Given the description of an element on the screen output the (x, y) to click on. 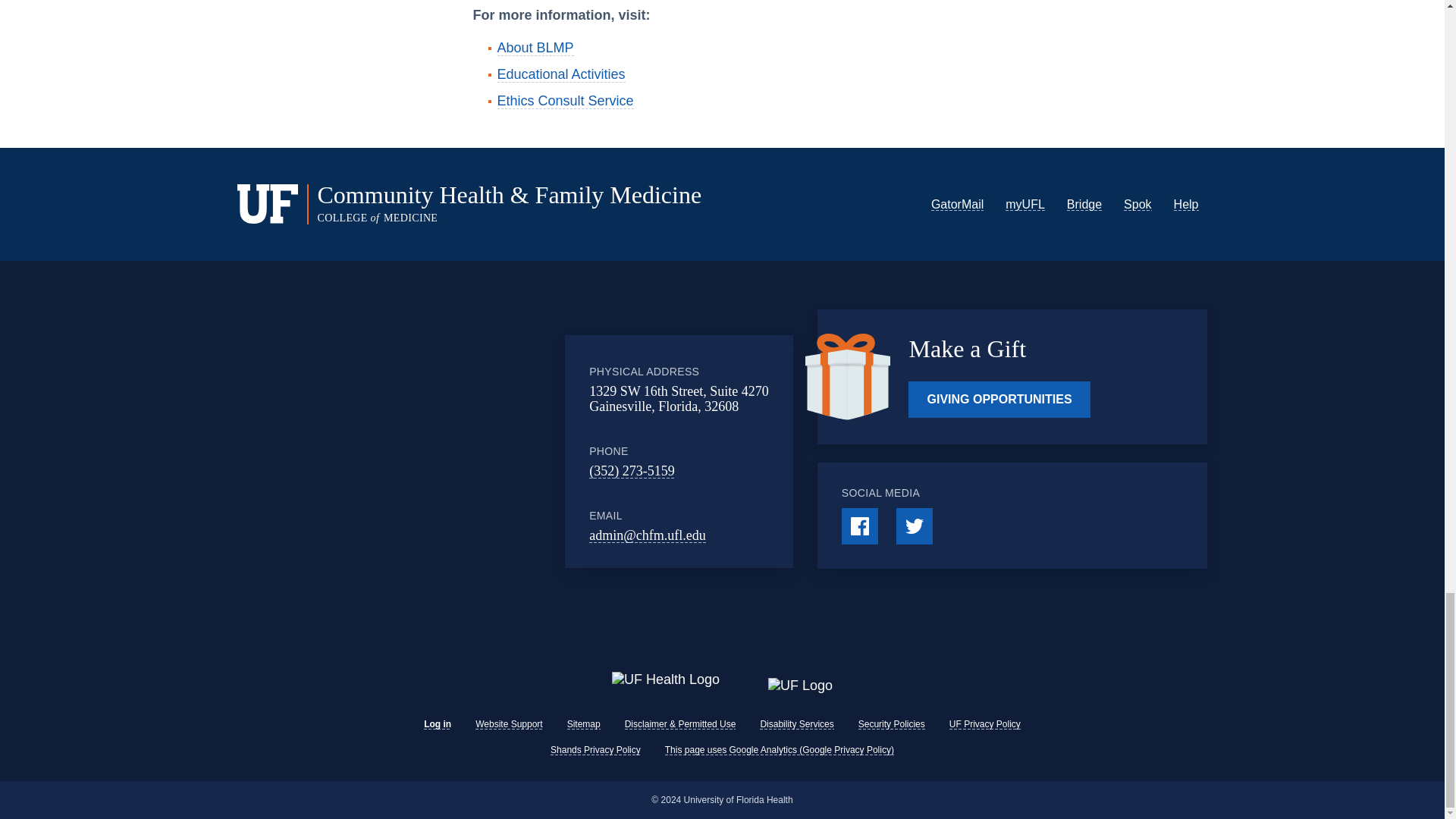
UF Privacy Policy (984, 724)
Bridge (1084, 204)
Help (1185, 204)
Security Policies (891, 724)
Sitemap (583, 724)
Disability Services (796, 724)
Spok (1137, 204)
Website Support (509, 724)
Google Maps Embed (448, 451)
GatorMail (957, 204)
